Given the description of an element on the screen output the (x, y) to click on. 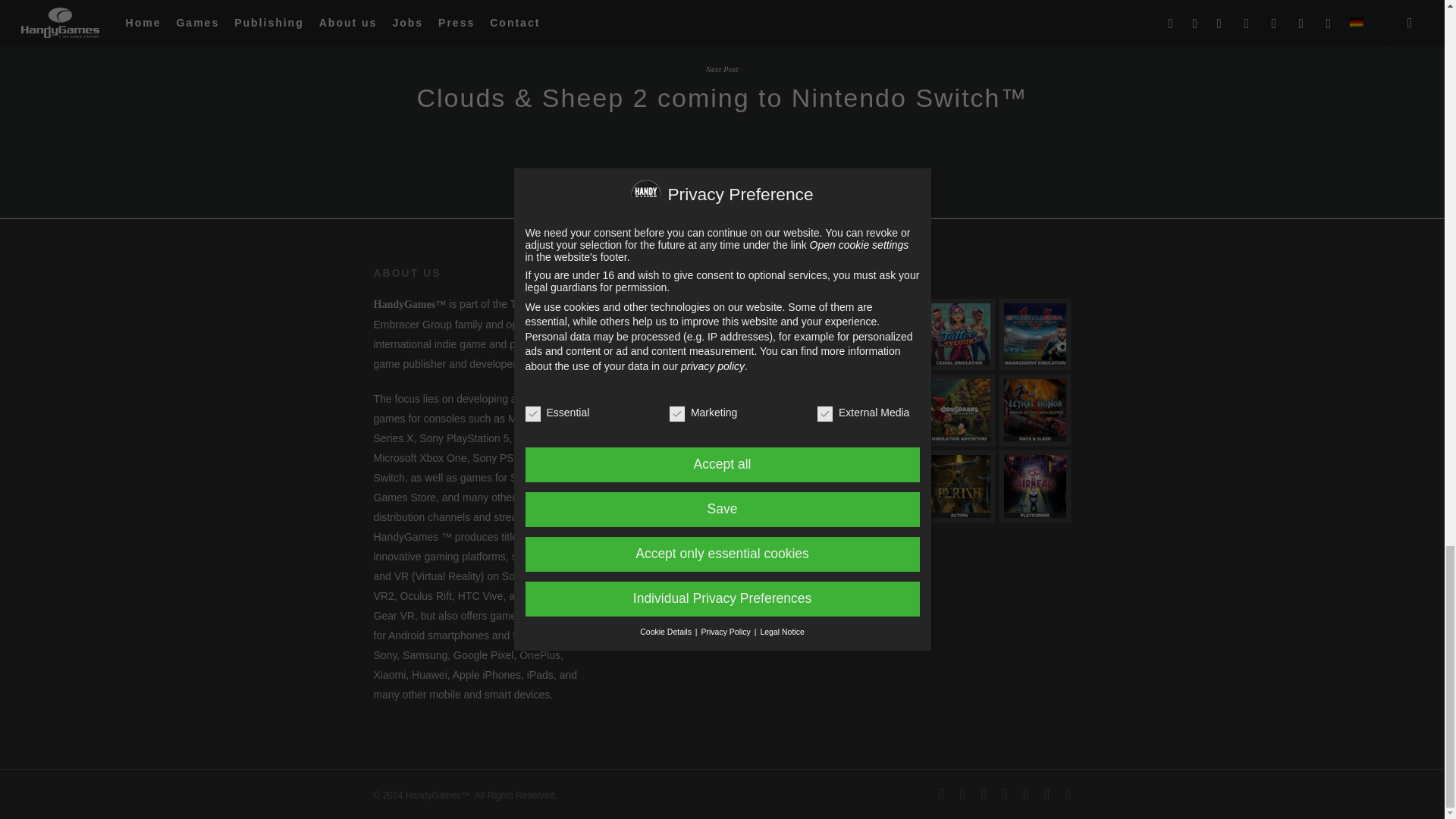
EULA (624, 363)
Open Cookie Preferences (660, 382)
Legal Notice (639, 304)
We Are Football 2024 (1034, 334)
Tattoo Tycoon (958, 334)
Airhead (1034, 485)
Way of the Hunter (882, 334)
PERISH (958, 485)
Lethal Honor (1034, 409)
De-Exit (882, 485)
